Given the description of an element on the screen output the (x, y) to click on. 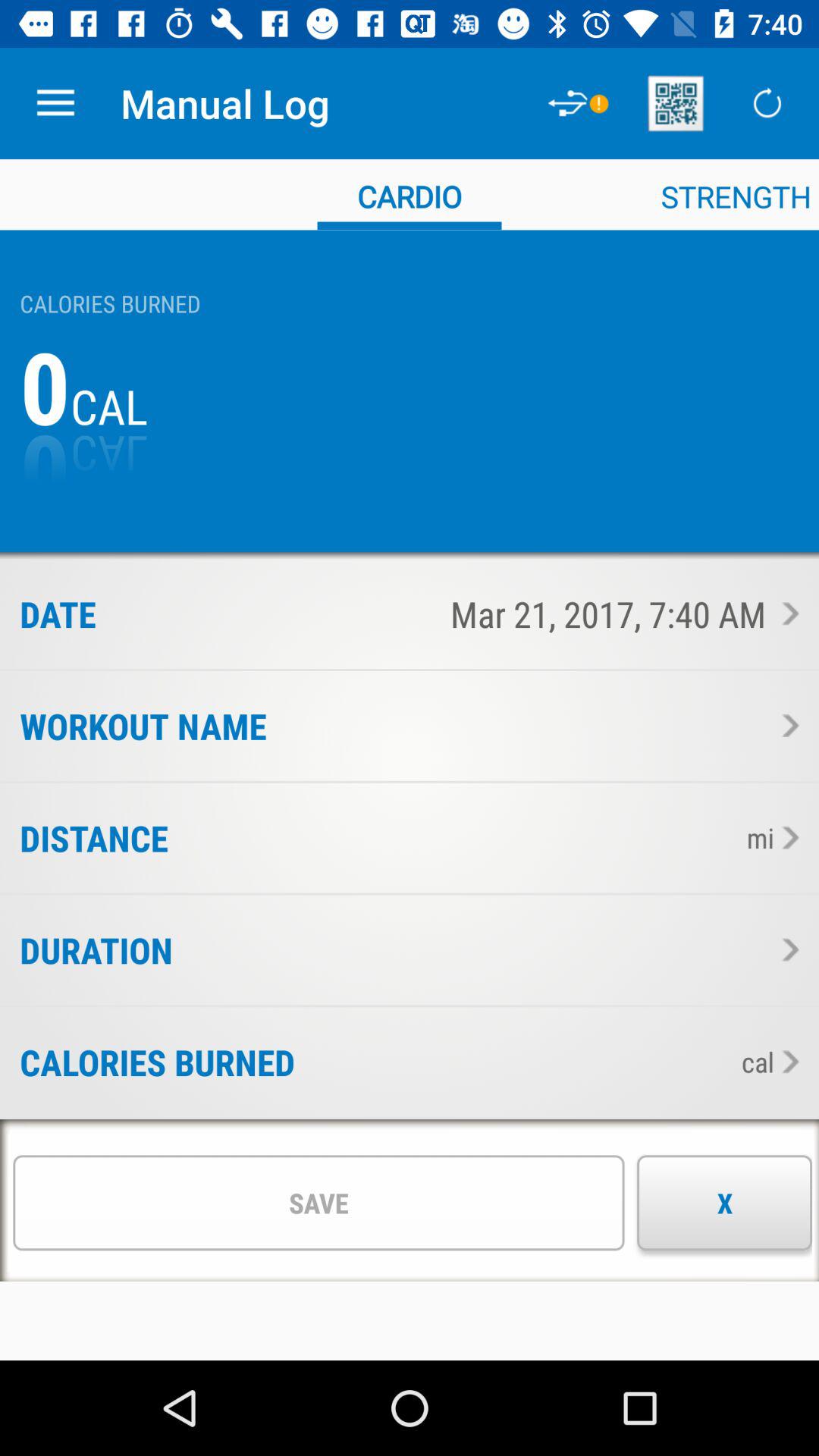
click the item to the right of the workout name item (532, 725)
